Given the description of an element on the screen output the (x, y) to click on. 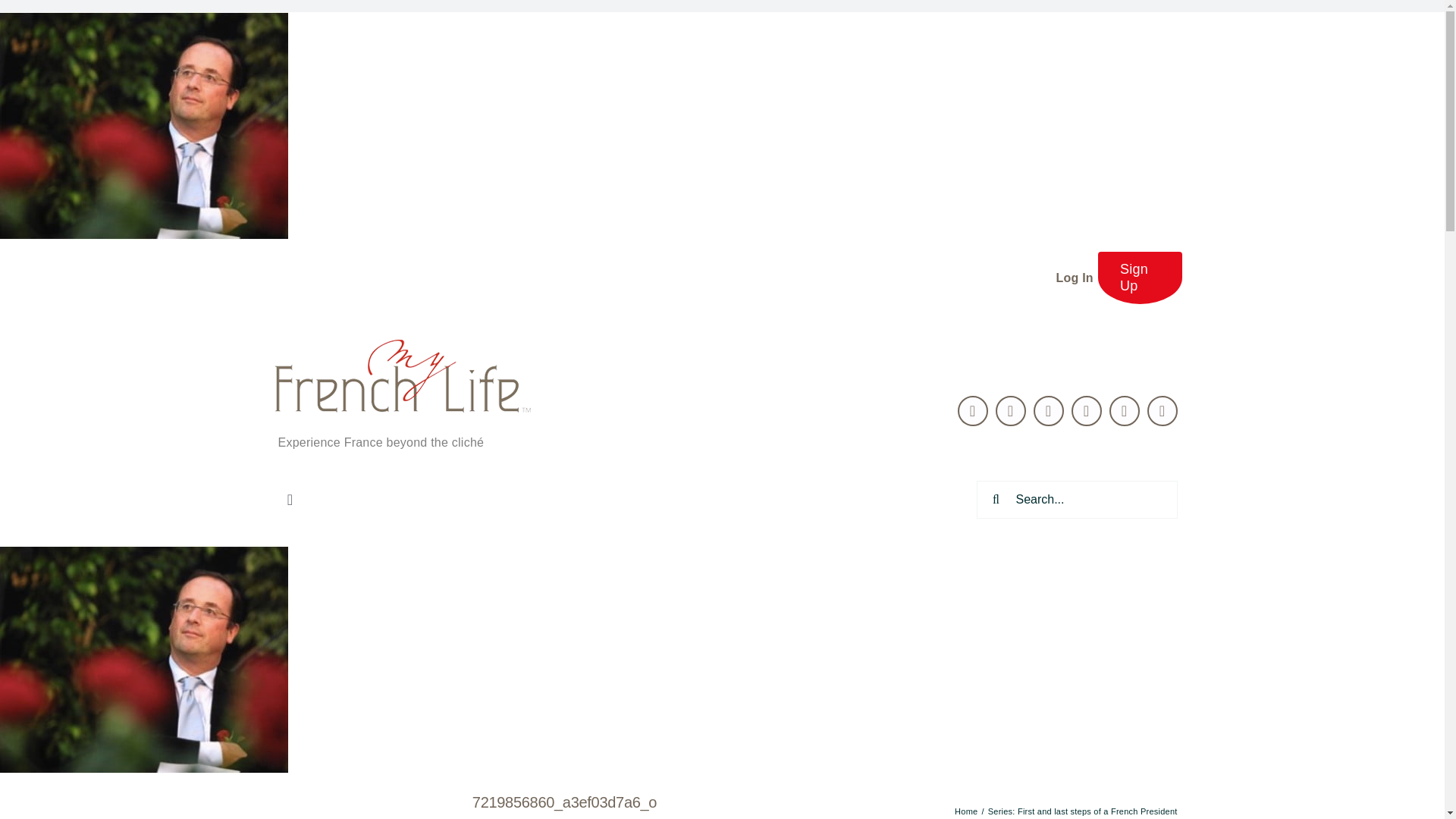
Instagram (1162, 410)
LinkedIn (1048, 410)
Pinterest (1086, 410)
Home (965, 810)
Series: First and last steps of a French President (1082, 810)
Log In (1074, 277)
YouTube (1124, 410)
Sign Up (1139, 277)
Facebook (1010, 410)
X (973, 410)
Toggle Navigation (289, 499)
